Given the description of an element on the screen output the (x, y) to click on. 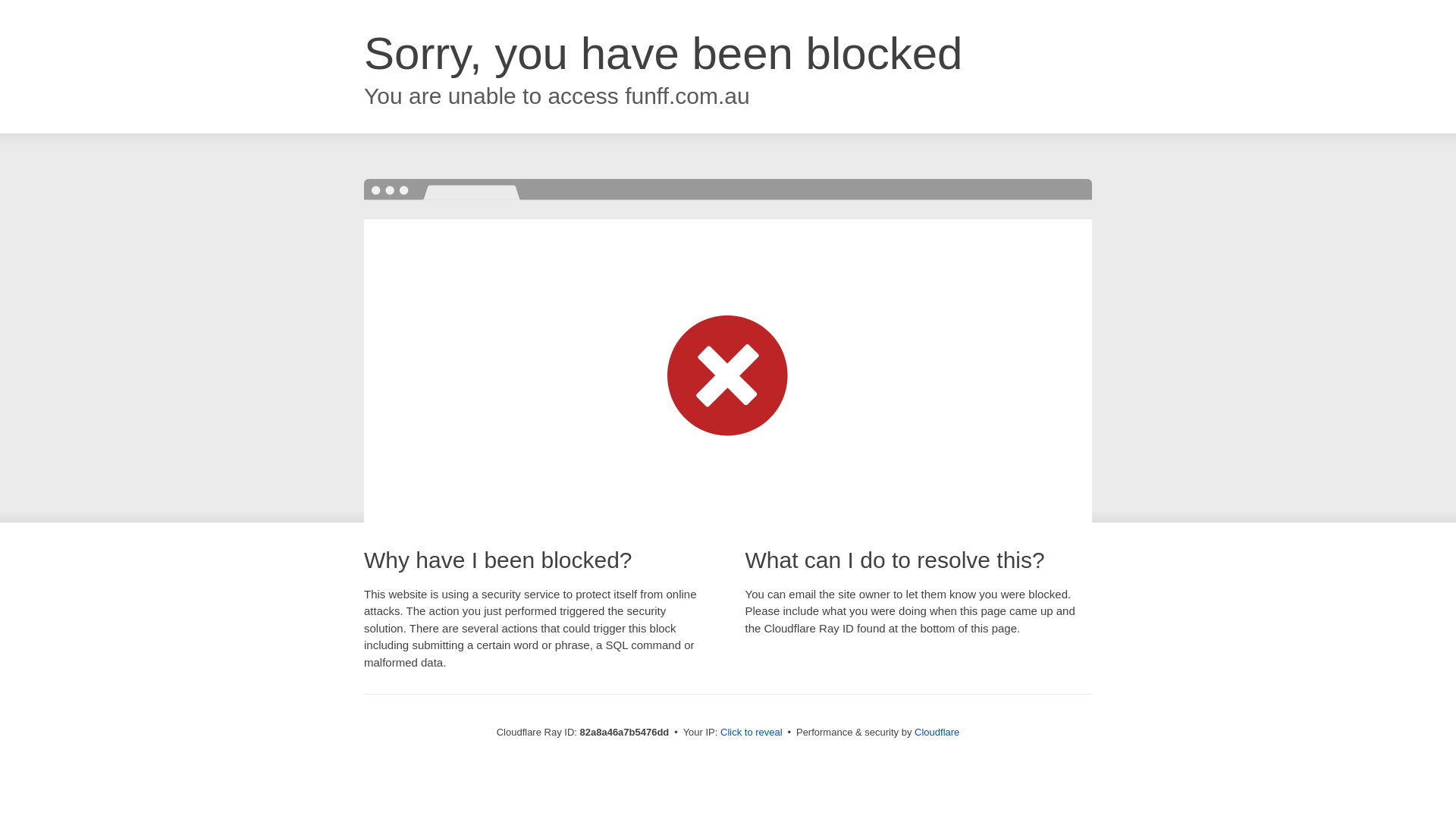
Click to reveal Element type: text (751, 732)
Cloudflare Element type: text (936, 731)
